Given the description of an element on the screen output the (x, y) to click on. 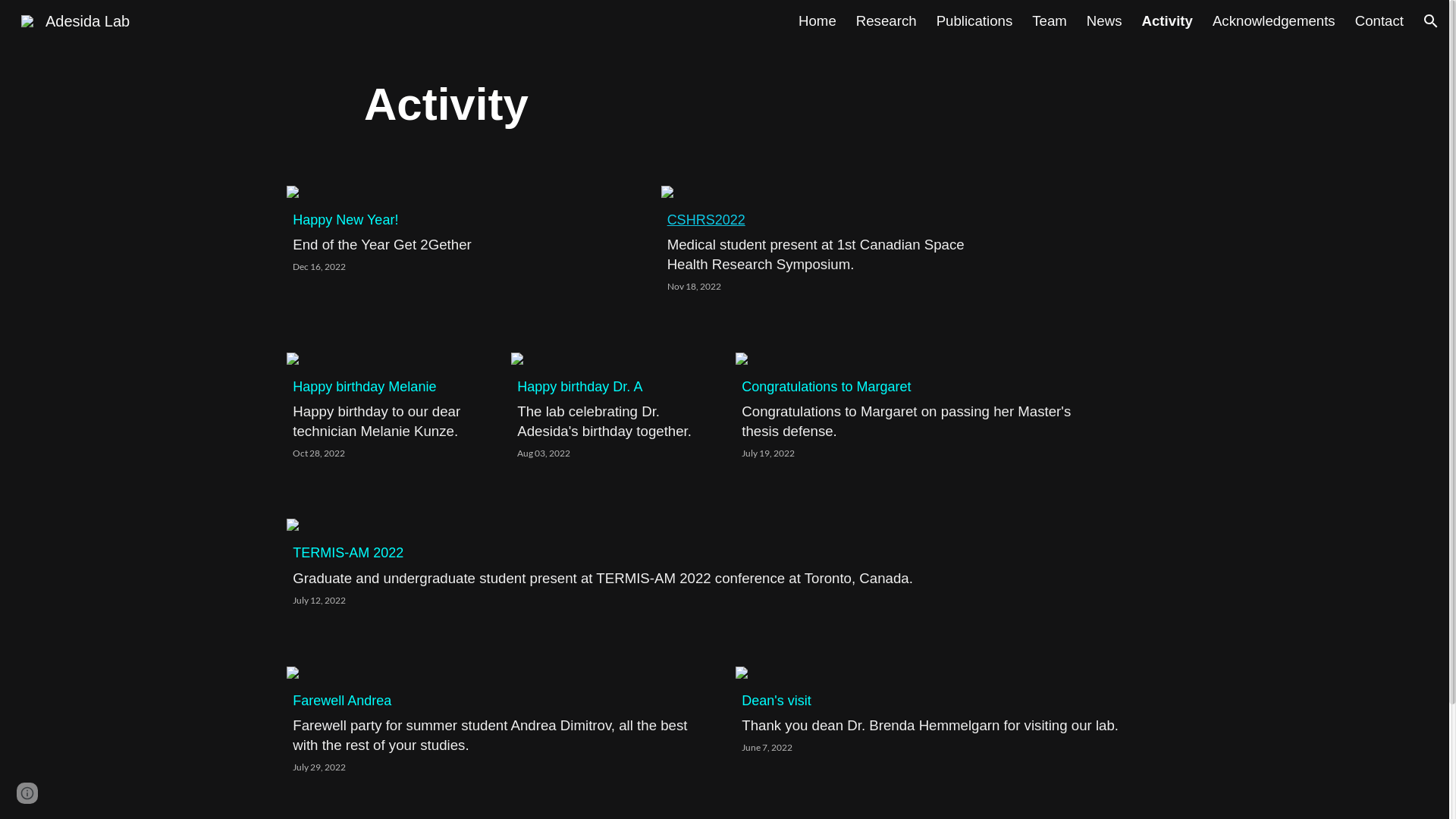
Acknowledgements Element type: text (1273, 20)
Home Element type: text (817, 20)
CSHRS2022 Element type: text (706, 219)
Contact Element type: text (1379, 20)
Team Element type: text (1049, 20)
News Element type: text (1104, 20)
Publications Element type: text (974, 20)
Adesida Lab Element type: text (75, 19)
Activity Element type: text (1167, 20)
Research Element type: text (886, 20)
